Given the description of an element on the screen output the (x, y) to click on. 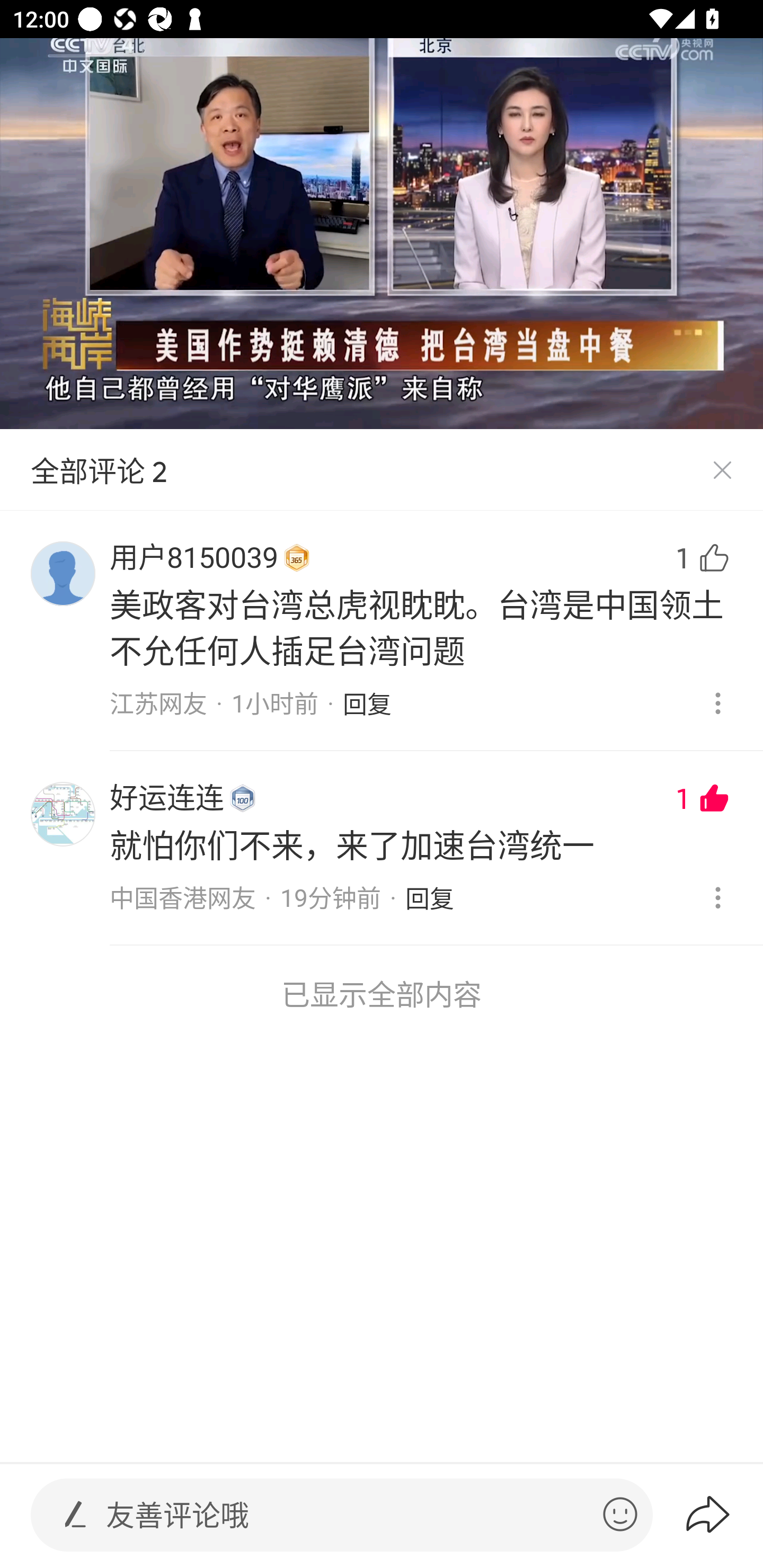
全部评论 2 关闭 (381, 470)
关闭 (722, 470)
UserRightLabel_OneMedalView 勋章 (296, 558)
UserRightLabel_OneMedalView 勋章 (242, 798)
已显示全部内容 (381, 993)
友善评论哦 发表评论 (346, 1515)
 分享 (723, 1514)
 (75, 1514)
 (619, 1514)
